Given the description of an element on the screen output the (x, y) to click on. 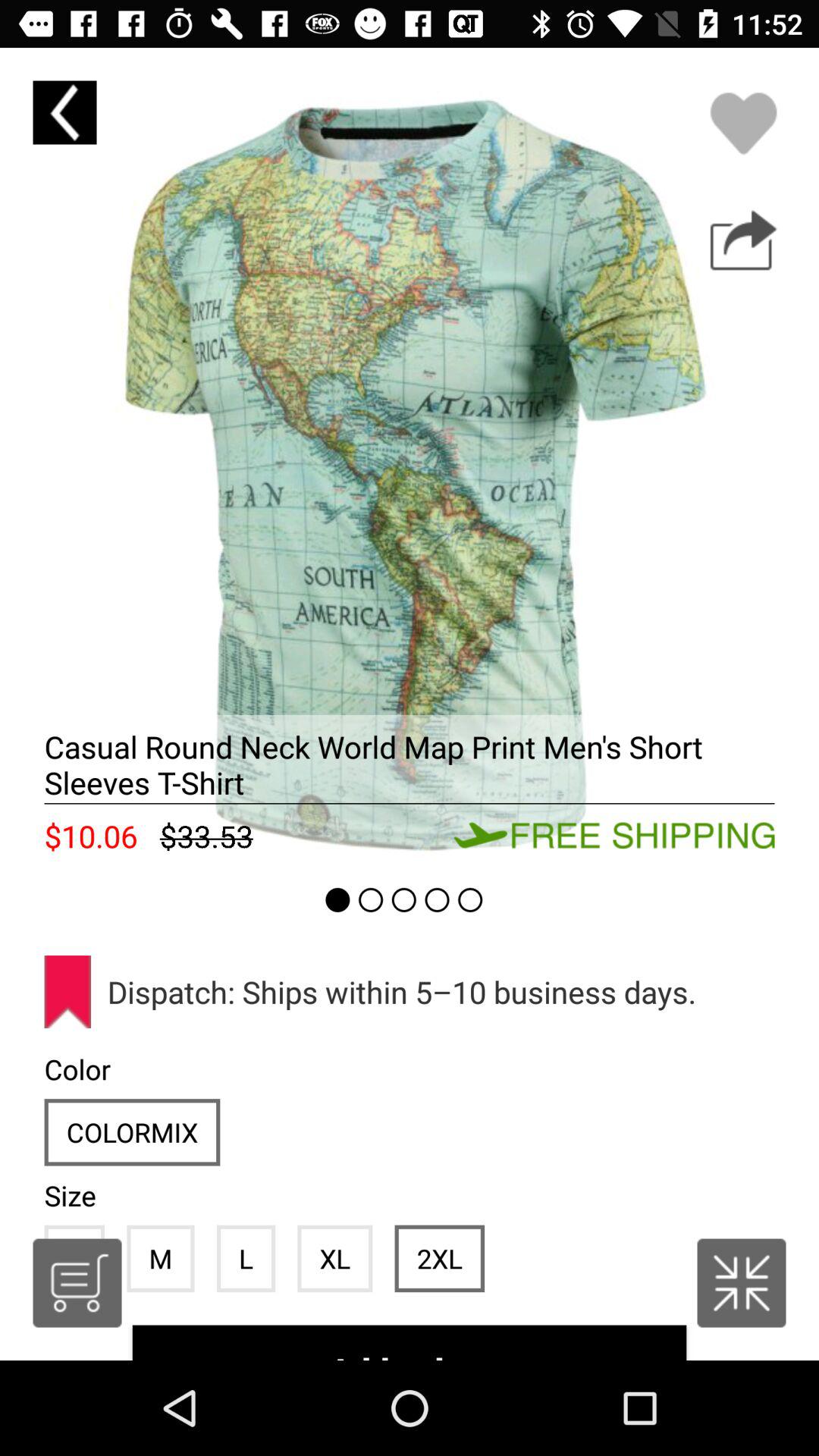
press the item below dispatch ships within icon (439, 1258)
